Given the description of an element on the screen output the (x, y) to click on. 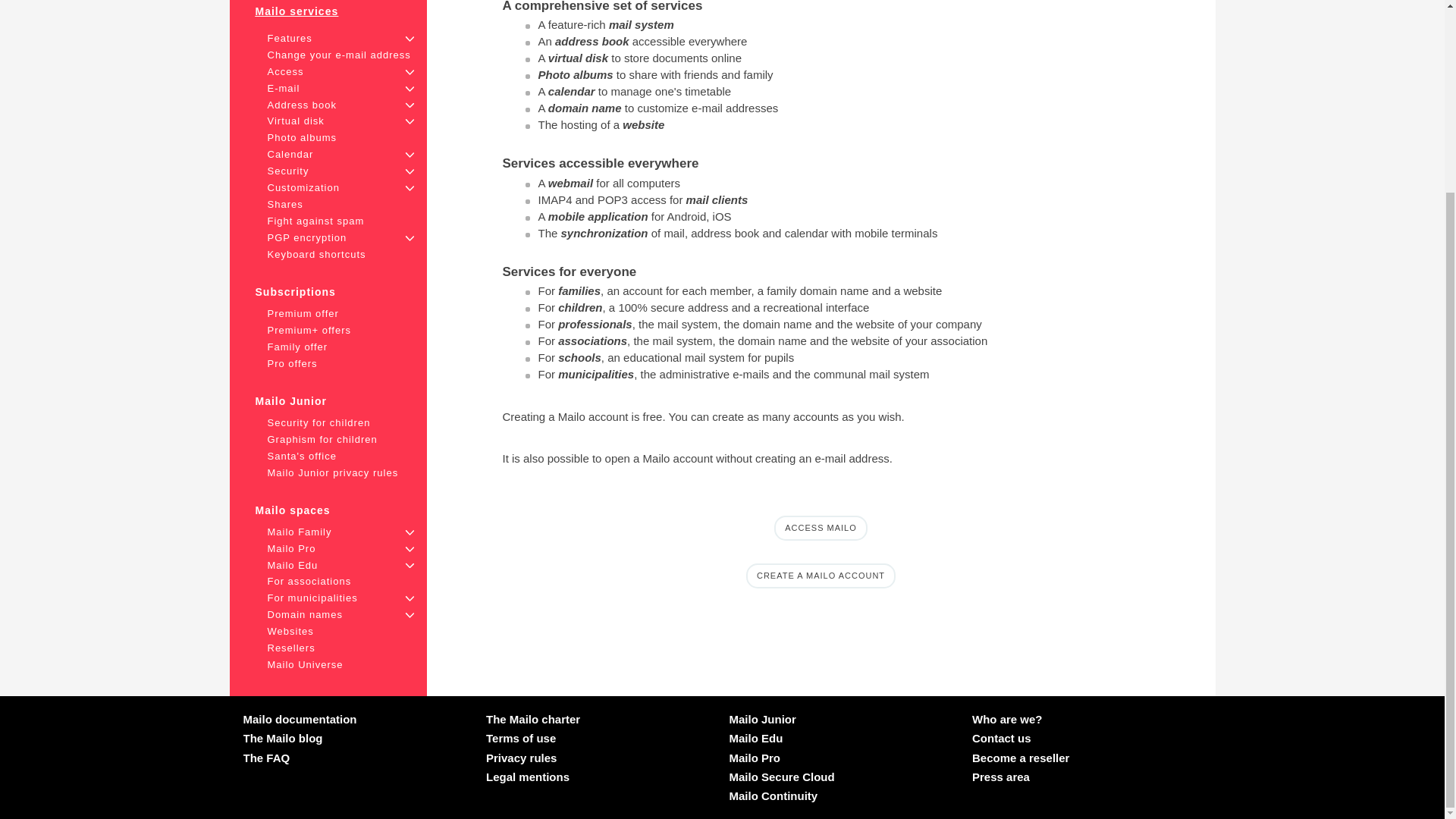
Shares (284, 204)
Mailo Junior (762, 718)
Mailo Edu (756, 738)
The FAQ (266, 757)
Linkedin (314, 782)
Legal mentions (527, 776)
Instagram (336, 782)
Mailo Junior privacy rules (331, 472)
Keyboard shortcuts (315, 254)
Facebook (249, 782)
